Given the description of an element on the screen output the (x, y) to click on. 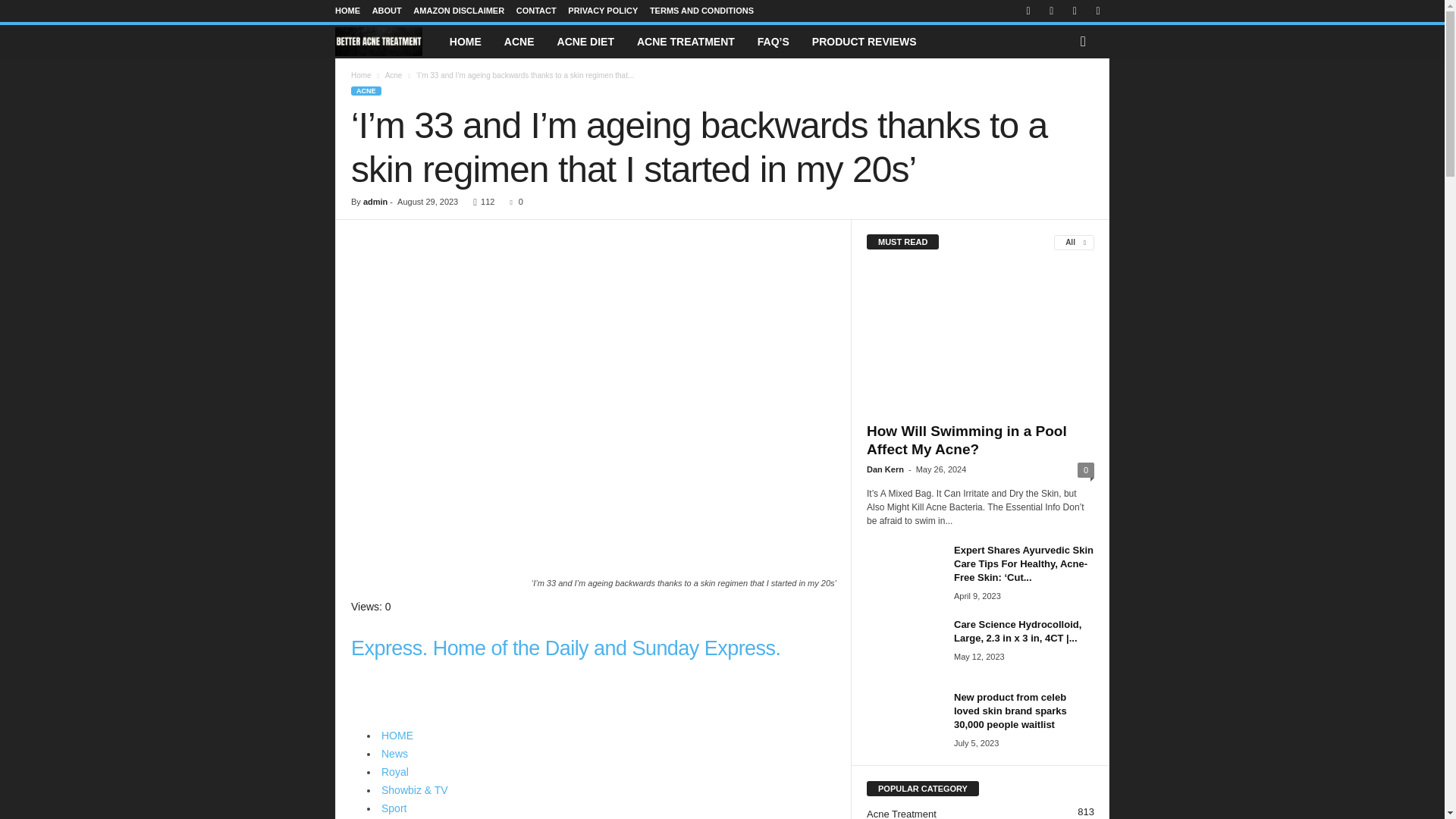
TERMS AND CONDITIONS (701, 10)
admin (374, 201)
Better Acne Treatmernt (386, 41)
HOME (465, 41)
PRIVACY POLICY (602, 10)
ACNE TREATMENT (685, 41)
PRODUCT REVIEWS (864, 41)
Home (360, 75)
AMAZON DISCLAIMER (458, 10)
HOME (346, 10)
